Given the description of an element on the screen output the (x, y) to click on. 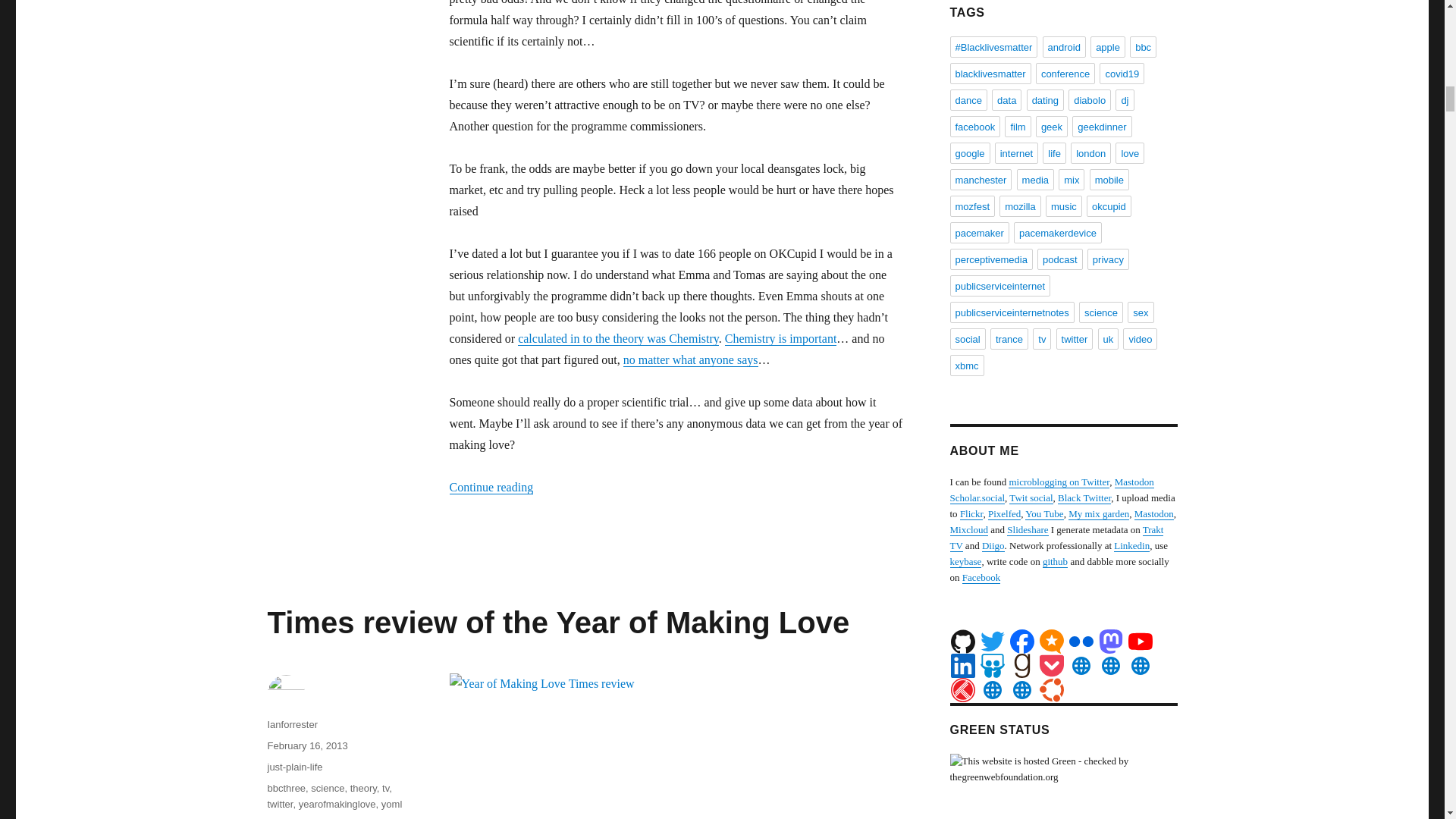
Welcome to Love in the Time of Algorithms (690, 359)
Ubuntu (1050, 689)
no matter what anyone says (690, 359)
Pocket (1050, 665)
Twitter (991, 641)
Mastodon (1109, 641)
GitHub (962, 641)
The Chemistry of Love and all that jazz (781, 338)
Micro.blog (1050, 641)
Chemistry is important (781, 338)
Facebook (1021, 641)
calculated in to the theory was Chemistry (618, 338)
Is it possible to match people with science? (618, 338)
SlideShare (991, 665)
Goodreads (1021, 665)
